Given the description of an element on the screen output the (x, y) to click on. 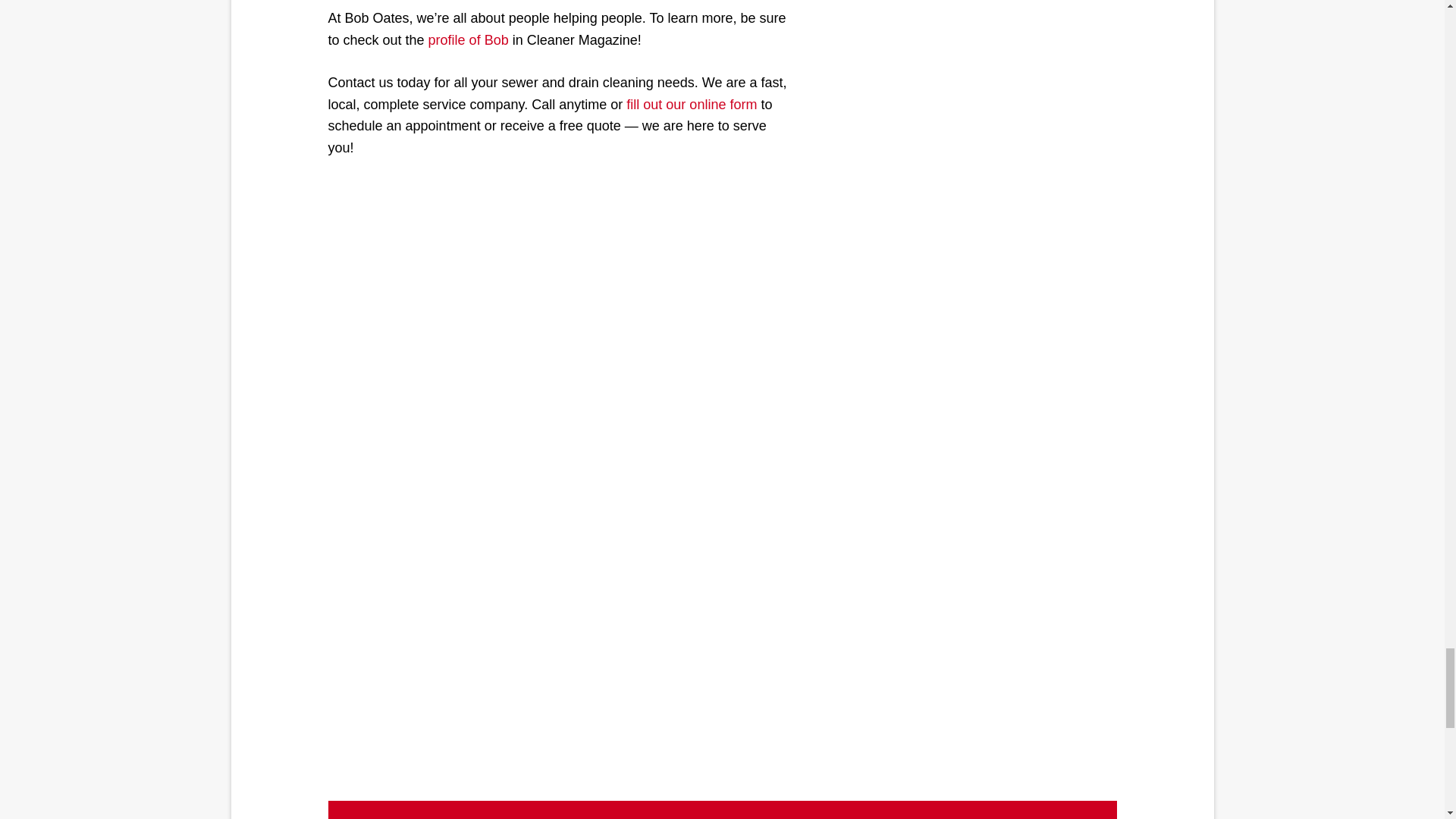
Coupon 7 (557, 629)
Coupon 6 (557, 334)
